Given the description of an element on the screen output the (x, y) to click on. 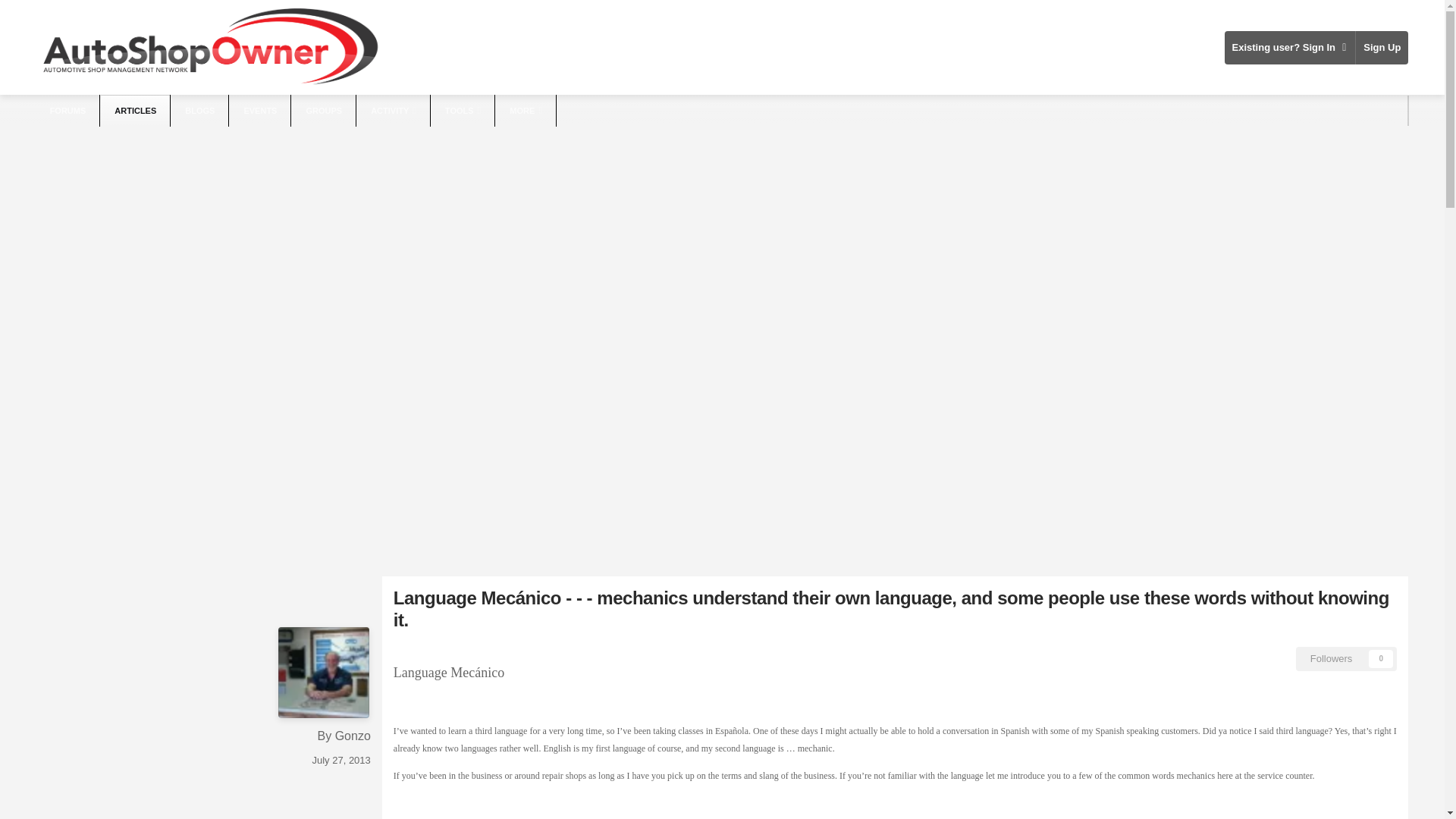
TOOLS (463, 110)
ACTIVITY (393, 110)
Sign in to follow this (1346, 658)
Existing user? Sign In   (1289, 46)
Go to Gonzo's profile (323, 672)
Go to Gonzo's profile (352, 735)
ARTICLES (135, 110)
MORE (526, 110)
GROUPS (324, 110)
EVENTS (260, 110)
